Given the description of an element on the screen output the (x, y) to click on. 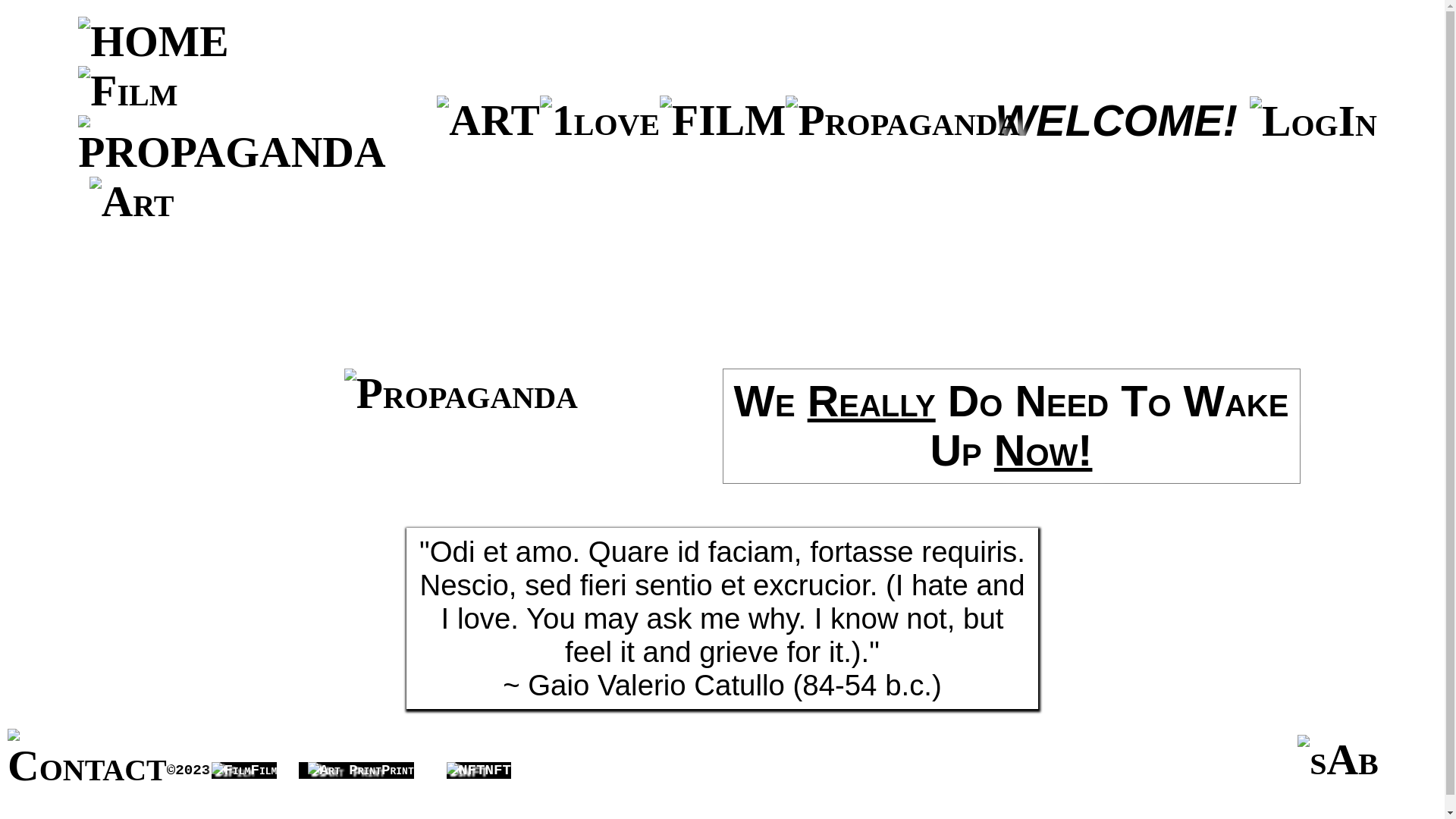
NFT Element type: text (478, 759)
Contact Element type: hover (86, 759)
FILM Element type: hover (722, 119)
Film Element type: hover (127, 90)
ART Element type: hover (487, 119)
HOME Element type: hover (153, 40)
sAb Element type: hover (1337, 759)
Art Element type: hover (131, 200)
1love Element type: hover (599, 119)
Art Print Element type: hover (344, 770)
Film Element type: text (243, 759)
NFT Element type: hover (465, 770)
PROPAGANDA Element type: hover (902, 119)
Print Element type: text (356, 759)
PROPAGANDA Element type: hover (460, 392)
Film Element type: hover (230, 770)
We Really Do Need To Wake Up Now! Element type: text (1011, 425)
PROPAGANDA Element type: hover (231, 145)
